Given the description of an element on the screen output the (x, y) to click on. 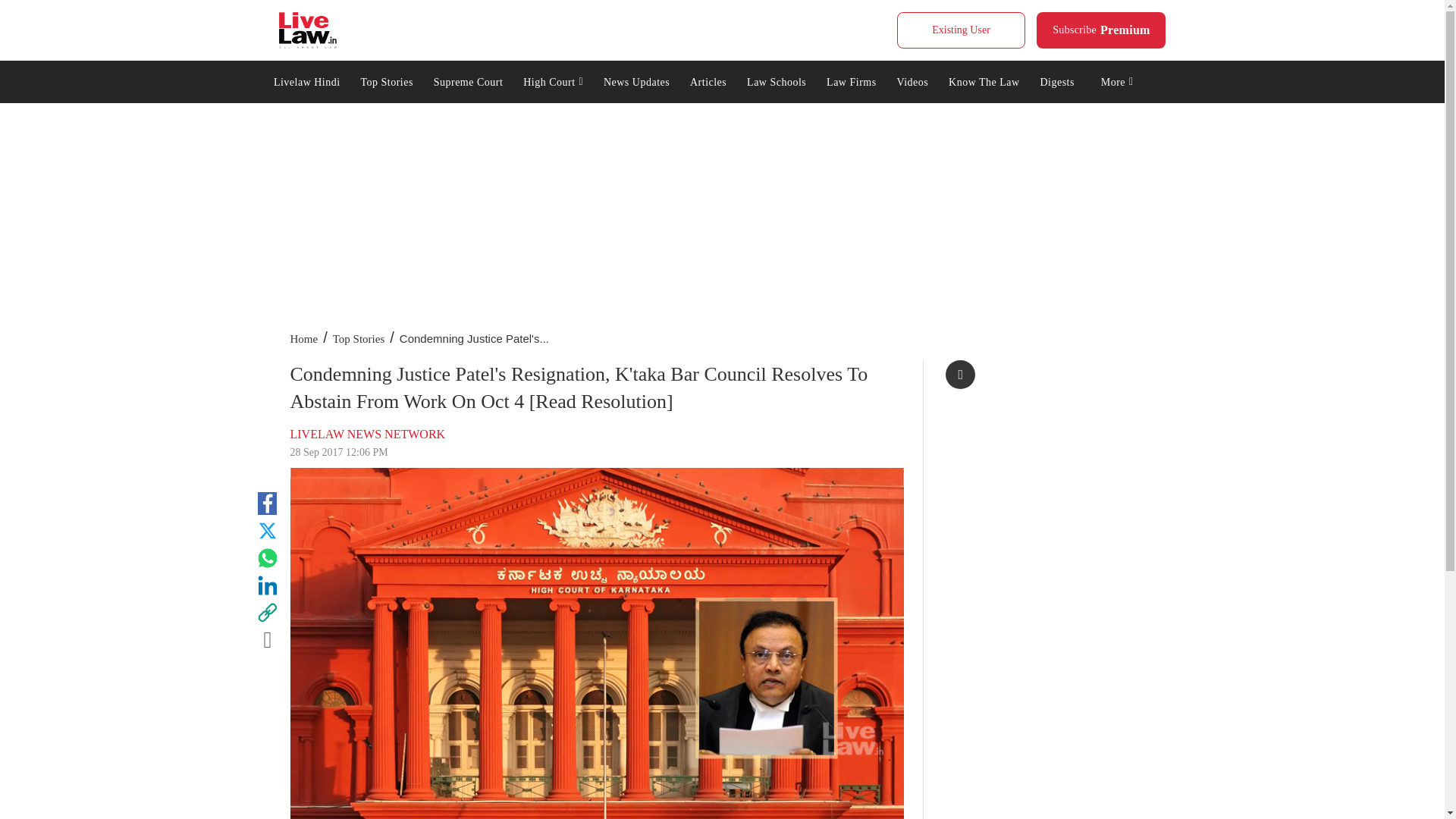
Top Stories (386, 80)
Existing User (1101, 30)
Live Law (960, 30)
High Court (307, 30)
Supreme Court (553, 80)
Livelaw Hindi (467, 80)
